Given the description of an element on the screen output the (x, y) to click on. 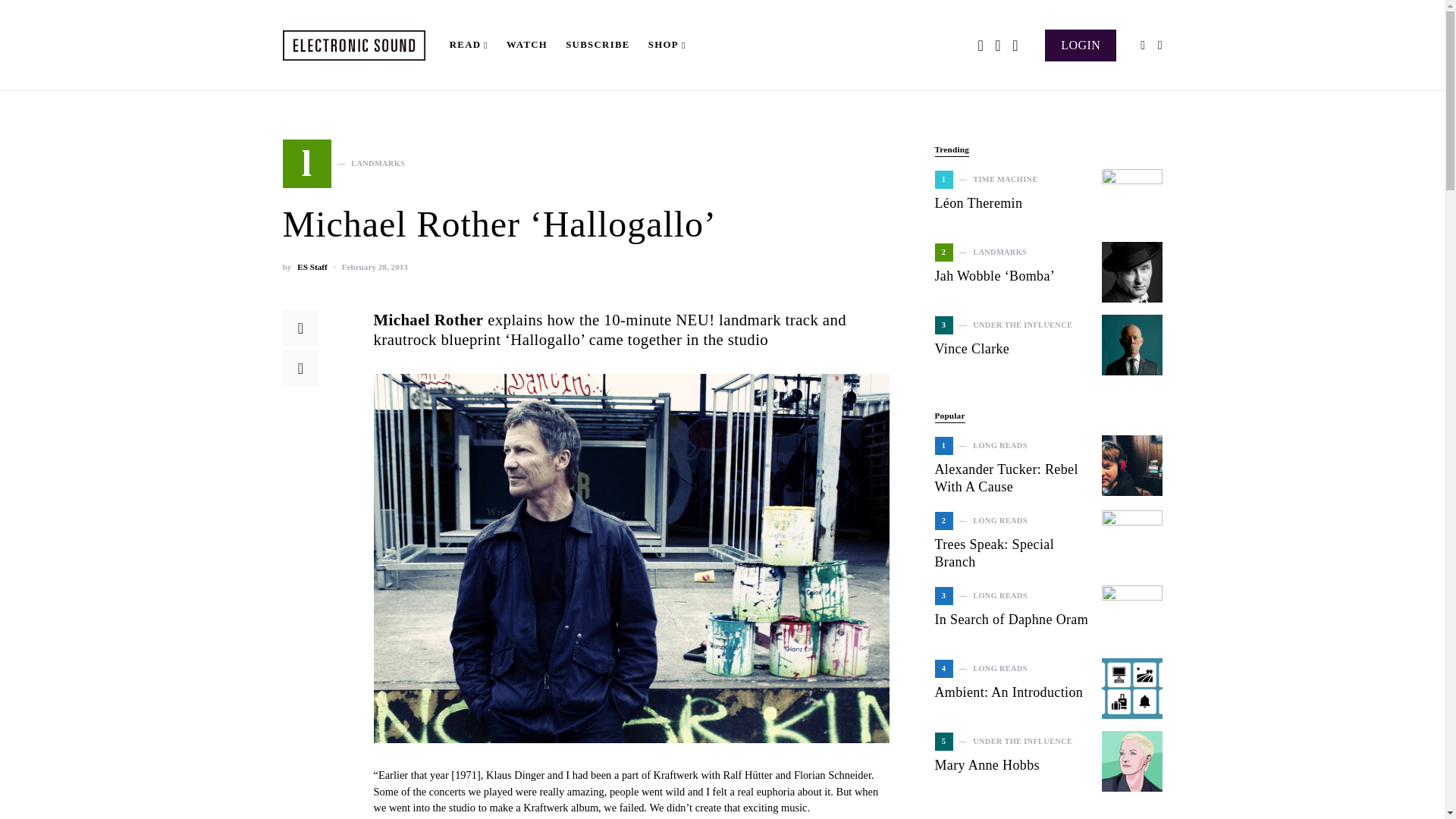
View all posts by ES Staff (343, 163)
ES Staff (311, 267)
LOGIN (311, 267)
SUBSCRIBE (1080, 44)
